Given the description of an element on the screen output the (x, y) to click on. 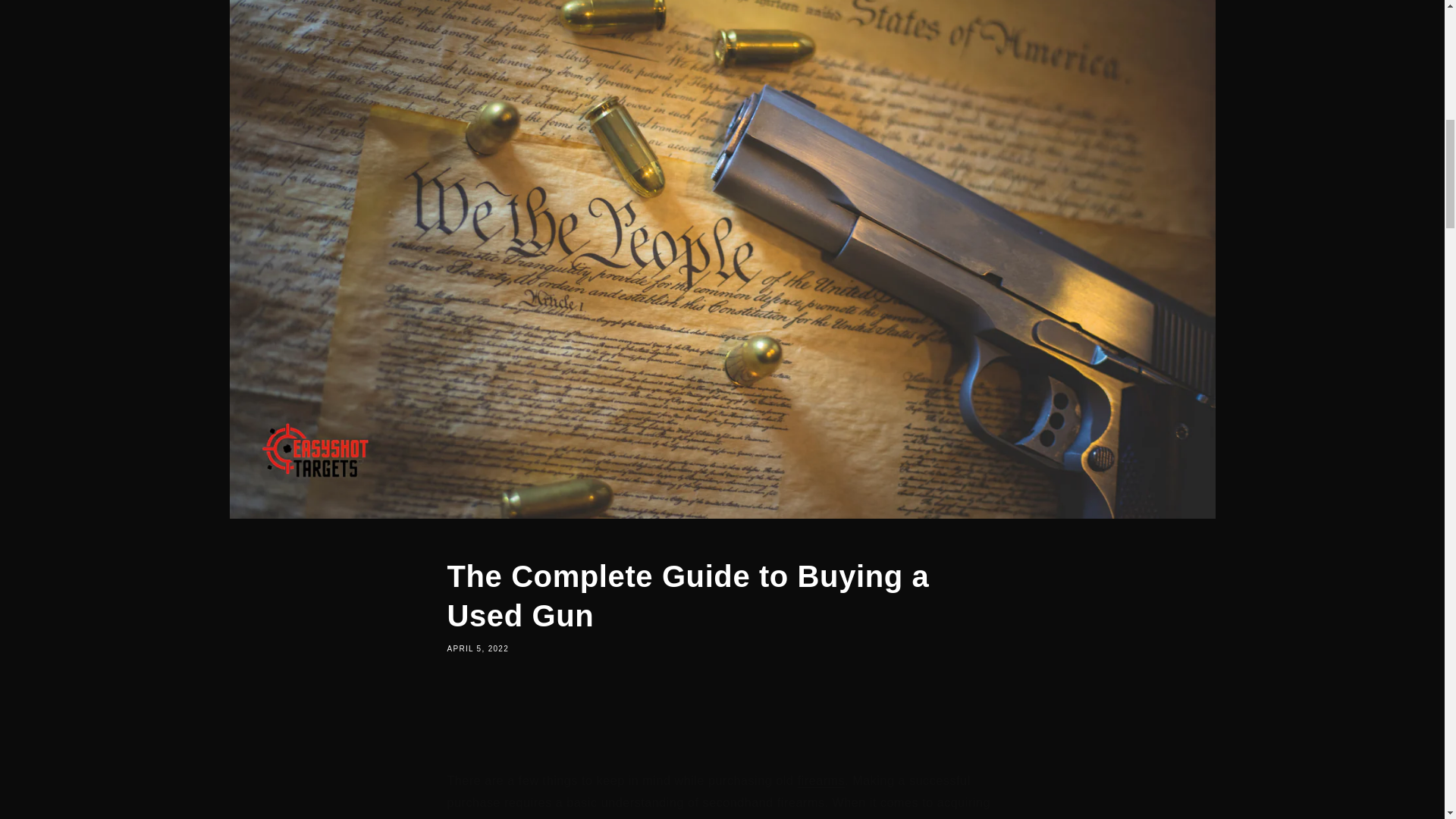
Share (721, 707)
